Given the description of an element on the screen output the (x, y) to click on. 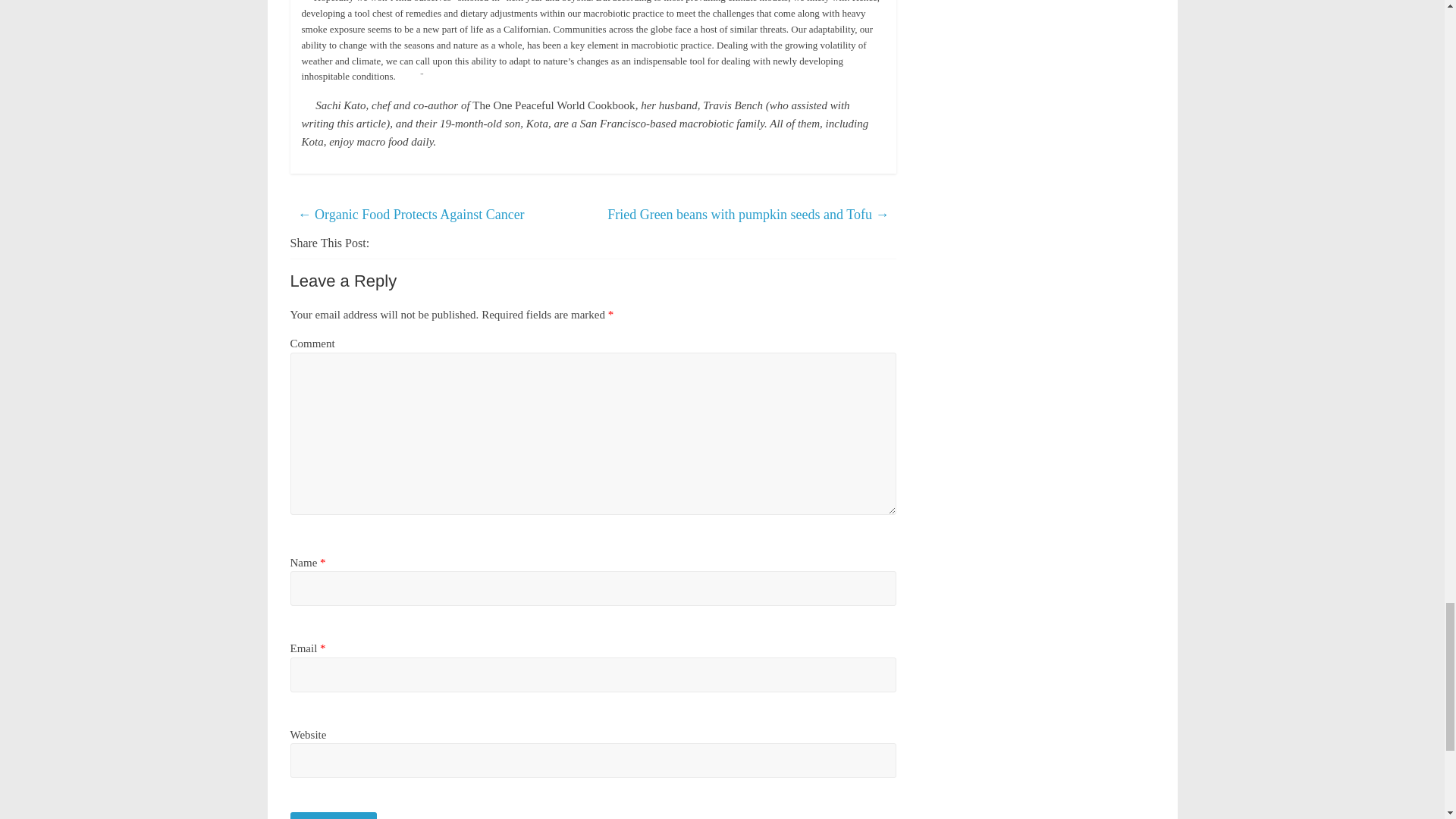
Post Comment (333, 815)
Post Comment (333, 815)
